Given the description of an element on the screen output the (x, y) to click on. 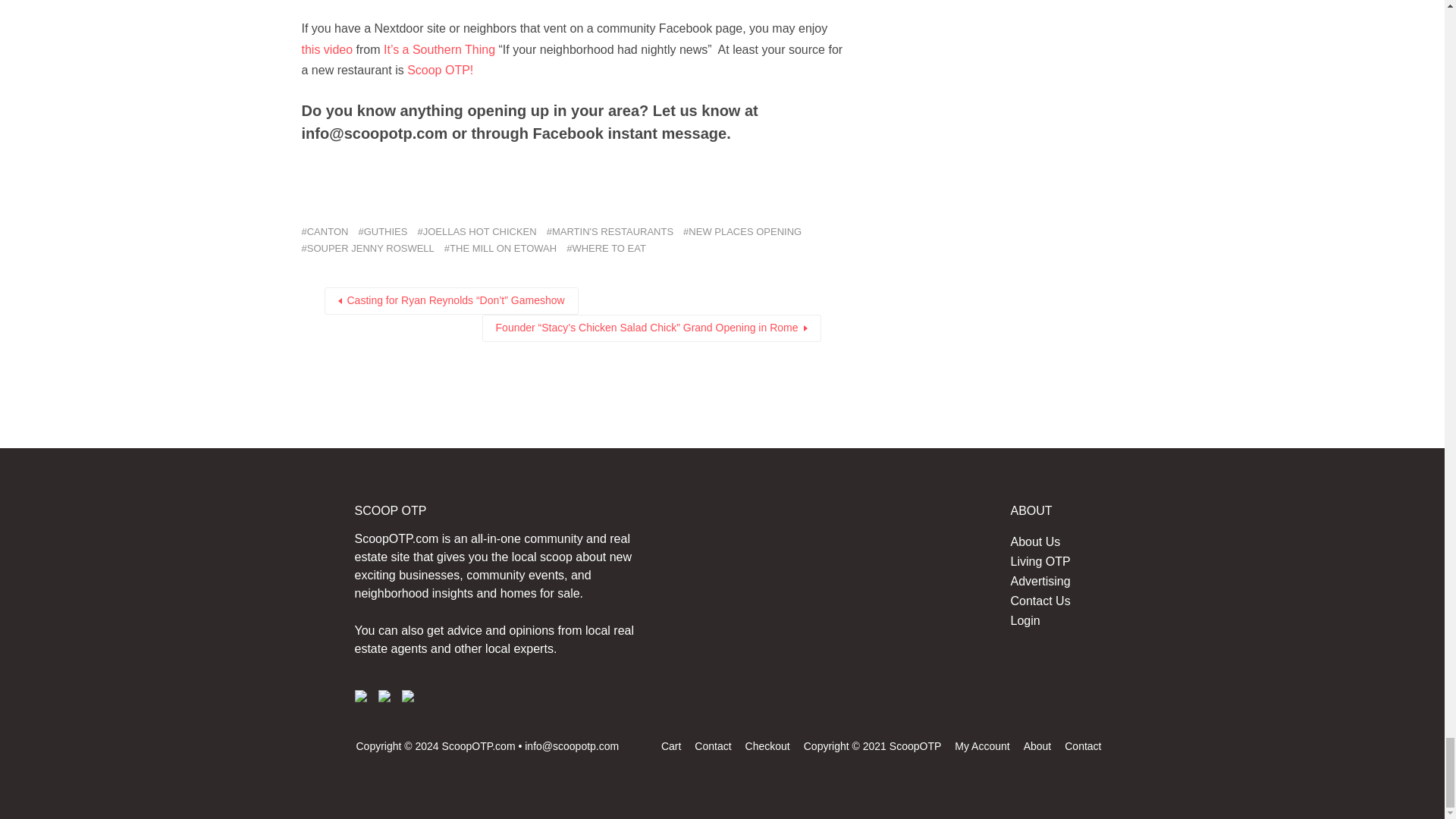
Twitter (407, 695)
JOELLAS HOT CHICKEN (475, 231)
Scoop OTP! (440, 69)
Instagram (383, 695)
NEW PLACES OPENING (742, 231)
this video  (328, 49)
CANTON (325, 231)
Facebook (360, 695)
MARTIN'S RESTAURANTS (609, 231)
GUTHIES (382, 231)
